Given the description of an element on the screen output the (x, y) to click on. 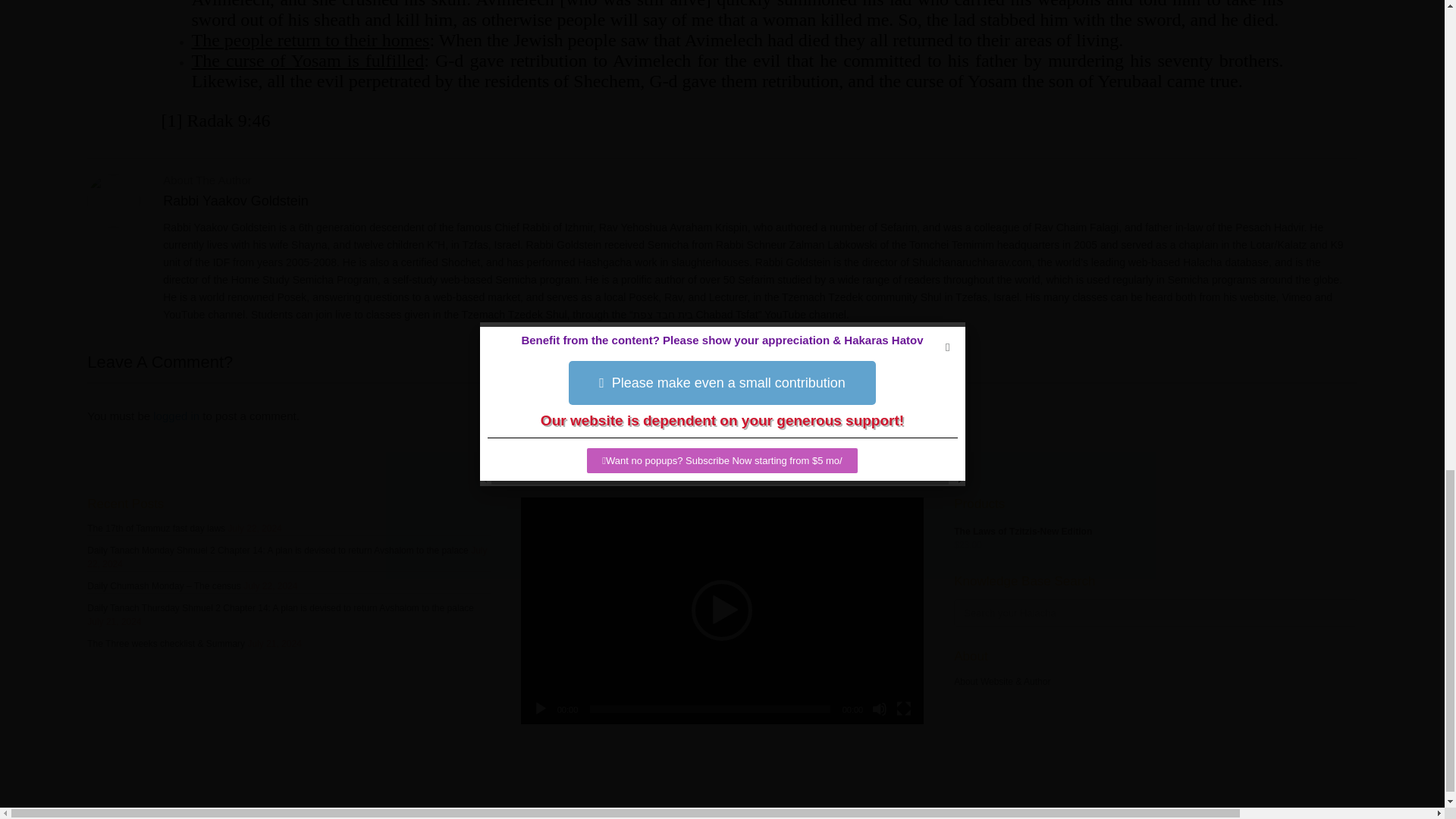
Log in (175, 415)
Mute (879, 708)
Fullscreen (903, 708)
Play (540, 708)
